Given the description of an element on the screen output the (x, y) to click on. 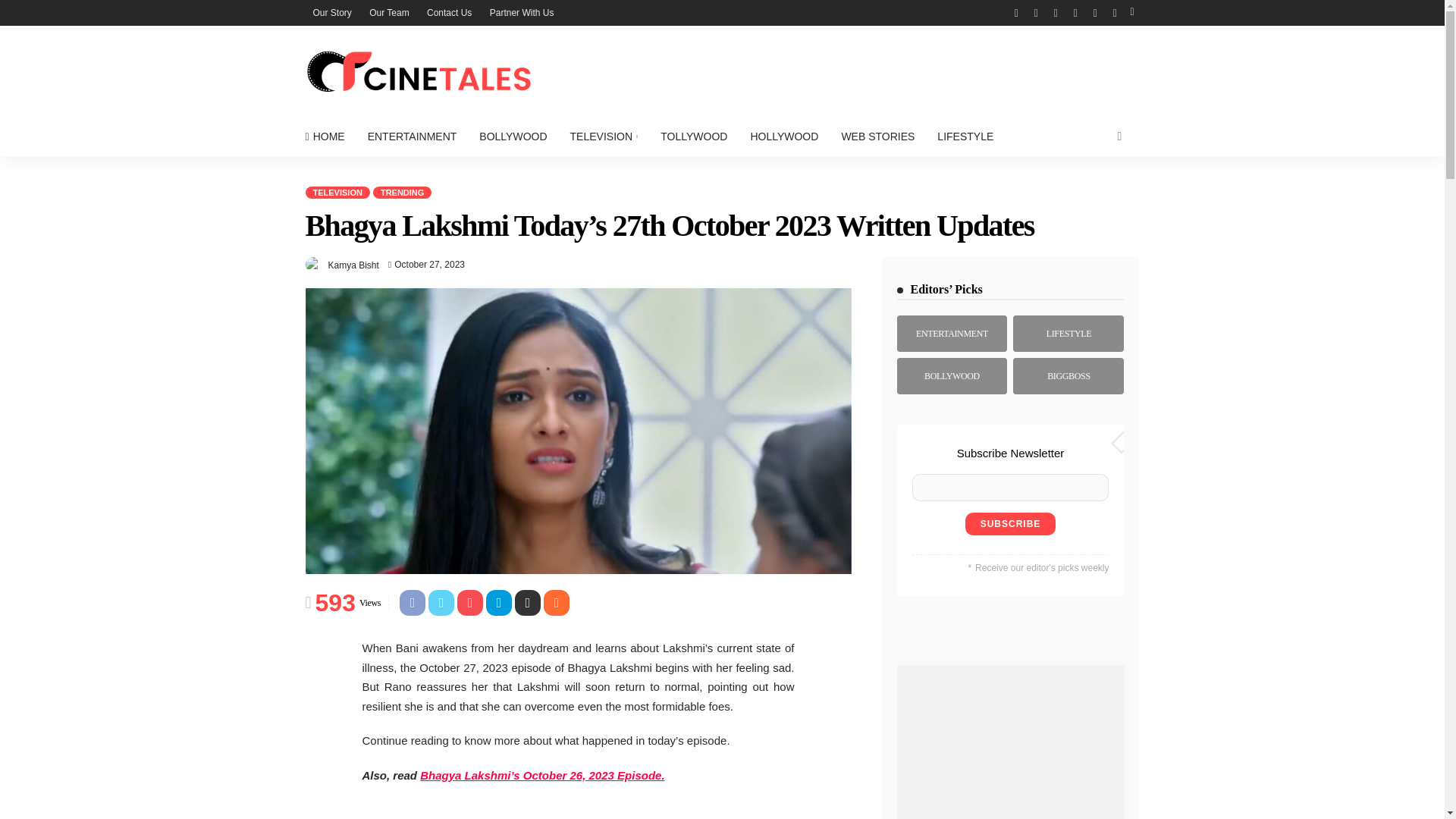
HOLLYWOOD (783, 136)
TELEVISION (604, 136)
TOLLYWOOD (693, 136)
Our Story (331, 12)
Our Team (388, 12)
Contact Us (449, 12)
HOME (329, 136)
BOLLYWOOD (512, 136)
Partner With Us (521, 12)
Subscribe (1011, 523)
